Given the description of an element on the screen output the (x, y) to click on. 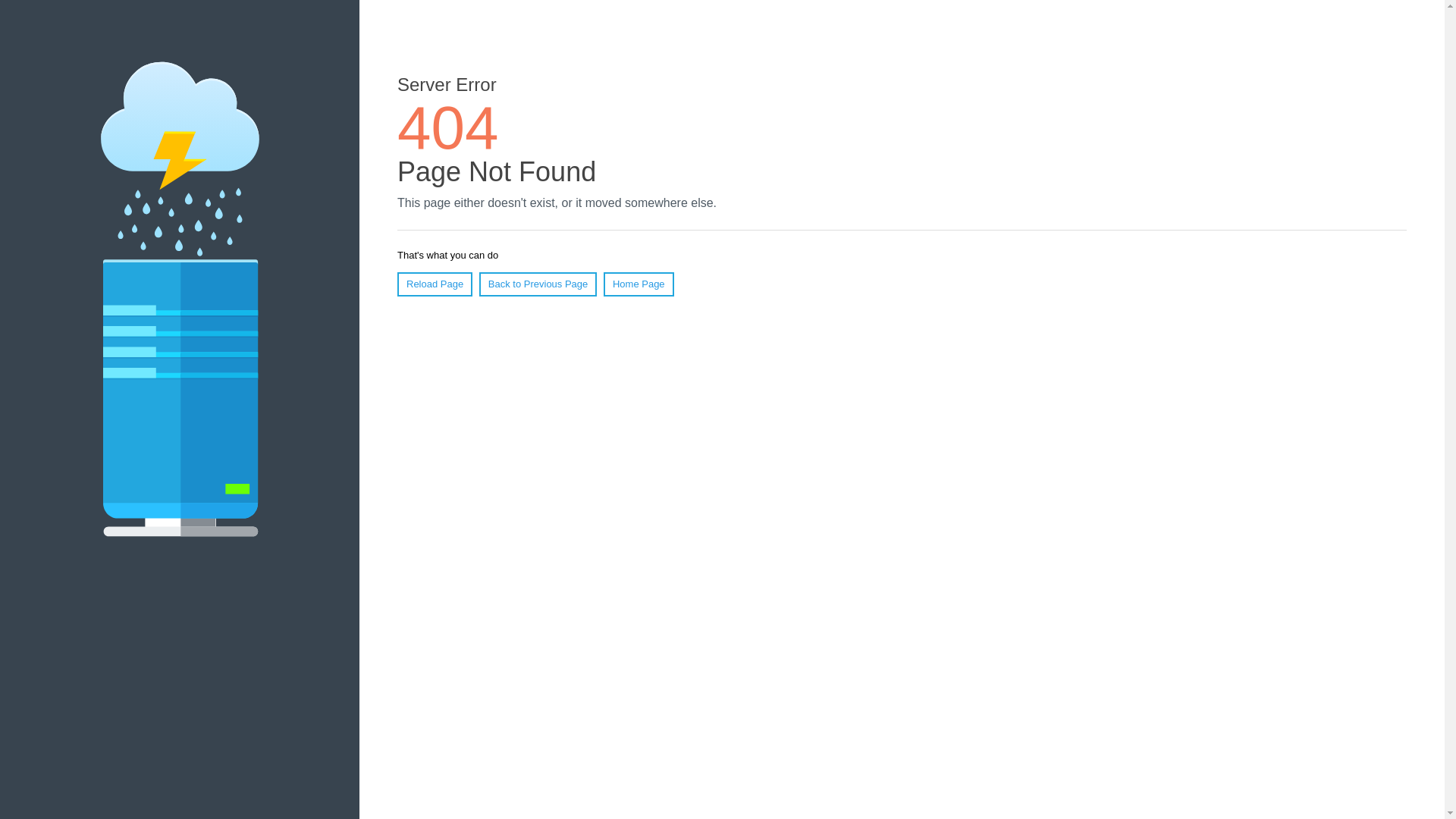
Reload Page (434, 283)
Back to Previous Page (537, 283)
Home Page (639, 283)
